Given the description of an element on the screen output the (x, y) to click on. 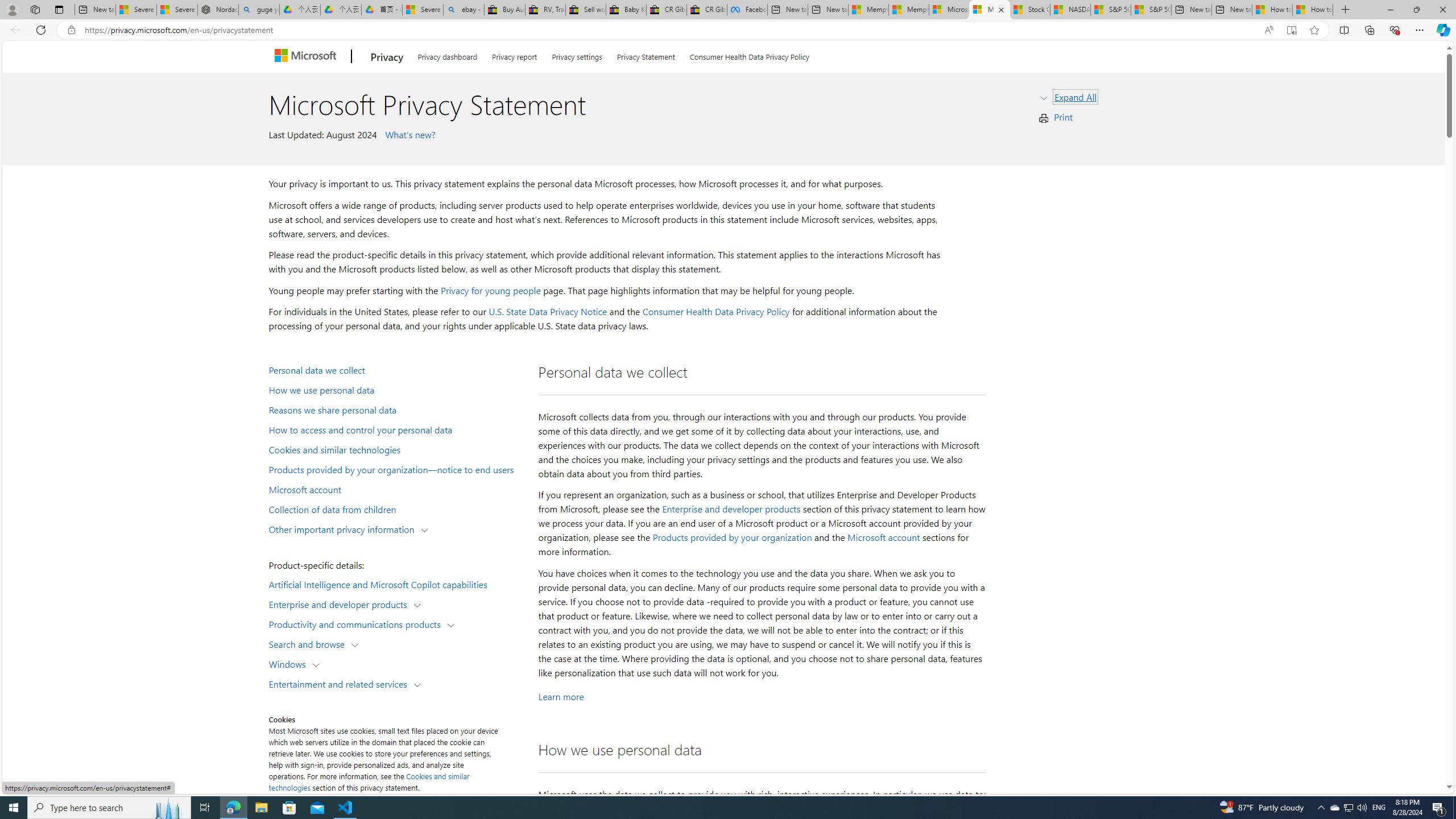
Read aloud this page (Ctrl+Shift+U) (1268, 29)
Productivity and communications products (356, 623)
Privacy Statement (645, 54)
Enterprise and developer products (340, 603)
Collection of data from children (395, 508)
App bar (728, 29)
Privacy (386, 56)
RV, Trailer & Camper Steps & Ladders for sale | eBay (544, 9)
Address and search bar (669, 29)
Consumer Health Data Privacy Policy (716, 311)
Microsoft account (883, 537)
Privacy report (514, 54)
